Given the description of an element on the screen output the (x, y) to click on. 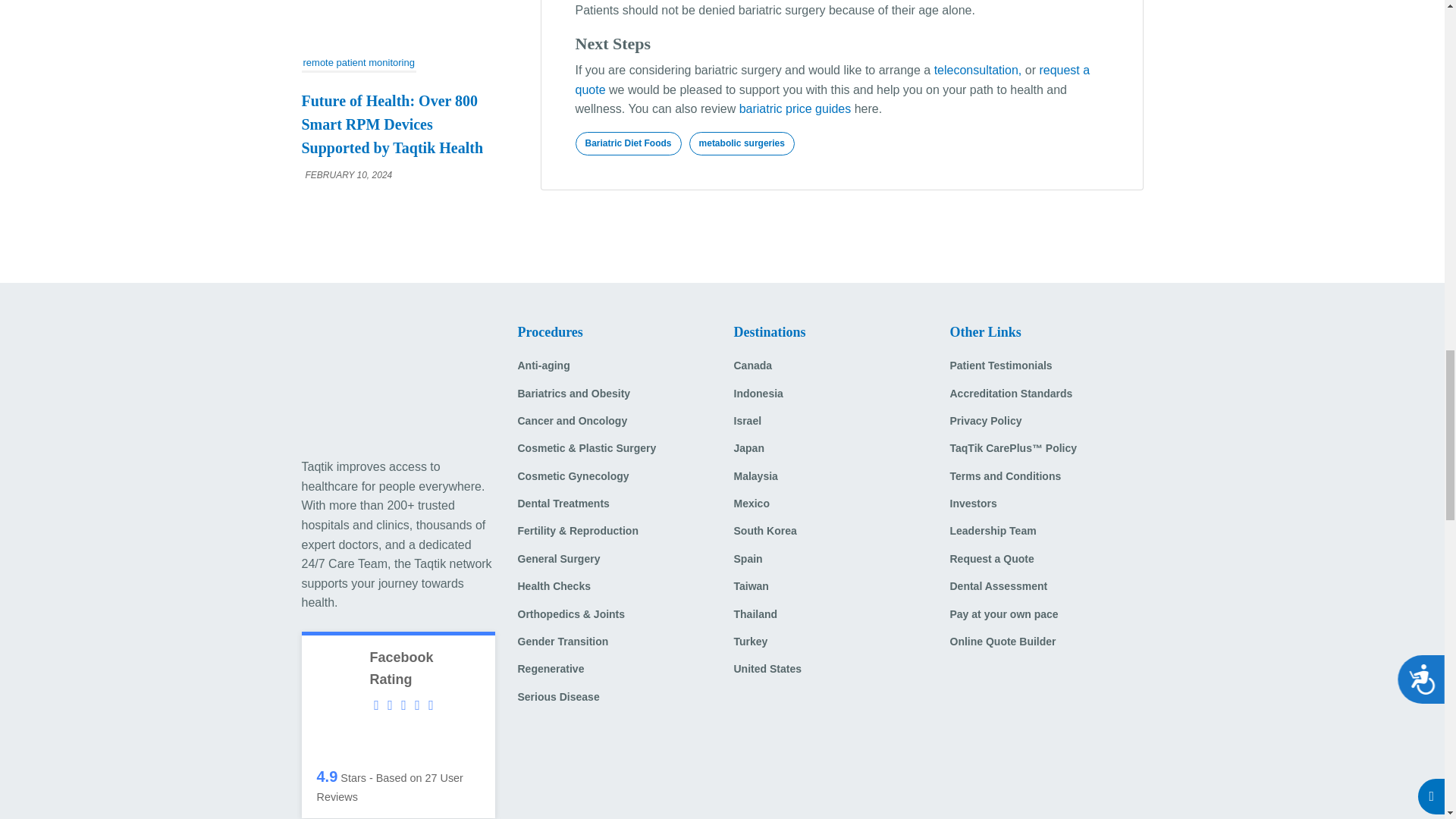
Dental Assessment (1045, 591)
